Given the description of an element on the screen output the (x, y) to click on. 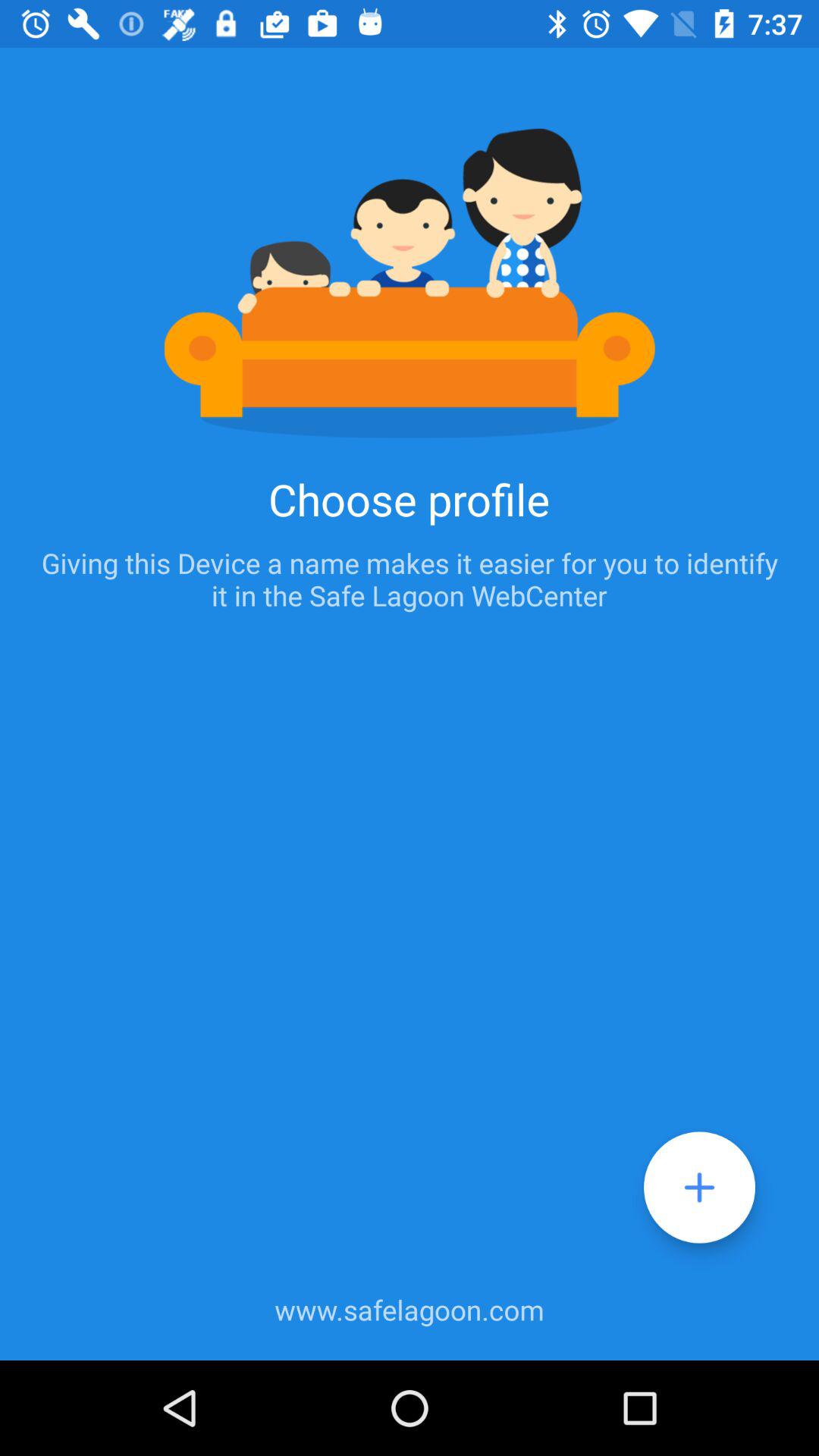
give device a name (699, 1187)
